Given the description of an element on the screen output the (x, y) to click on. 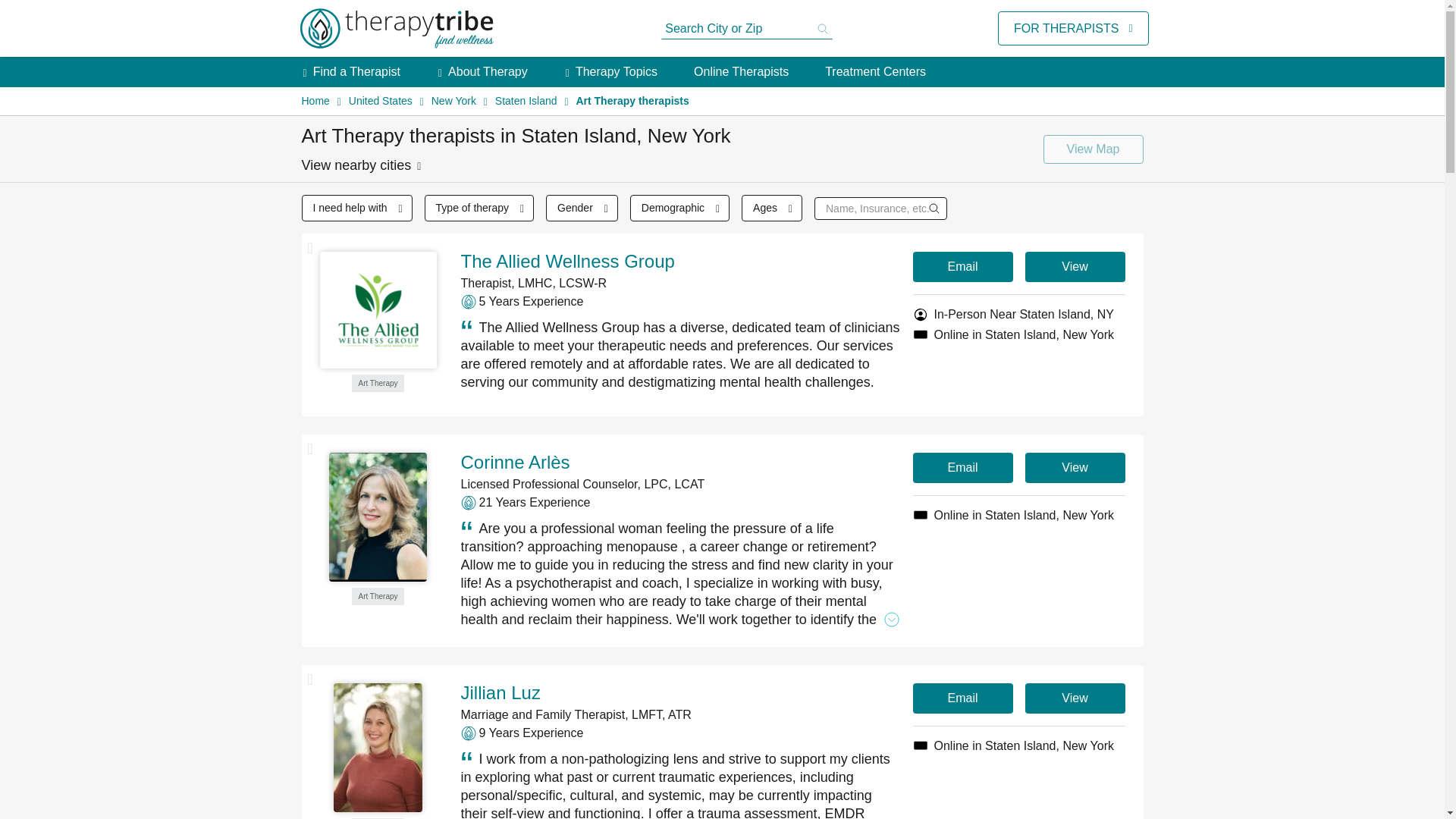
FOR THERAPISTS (1065, 28)
Find a Therapist (356, 71)
TherapyTribe (395, 28)
